Given the description of an element on the screen output the (x, y) to click on. 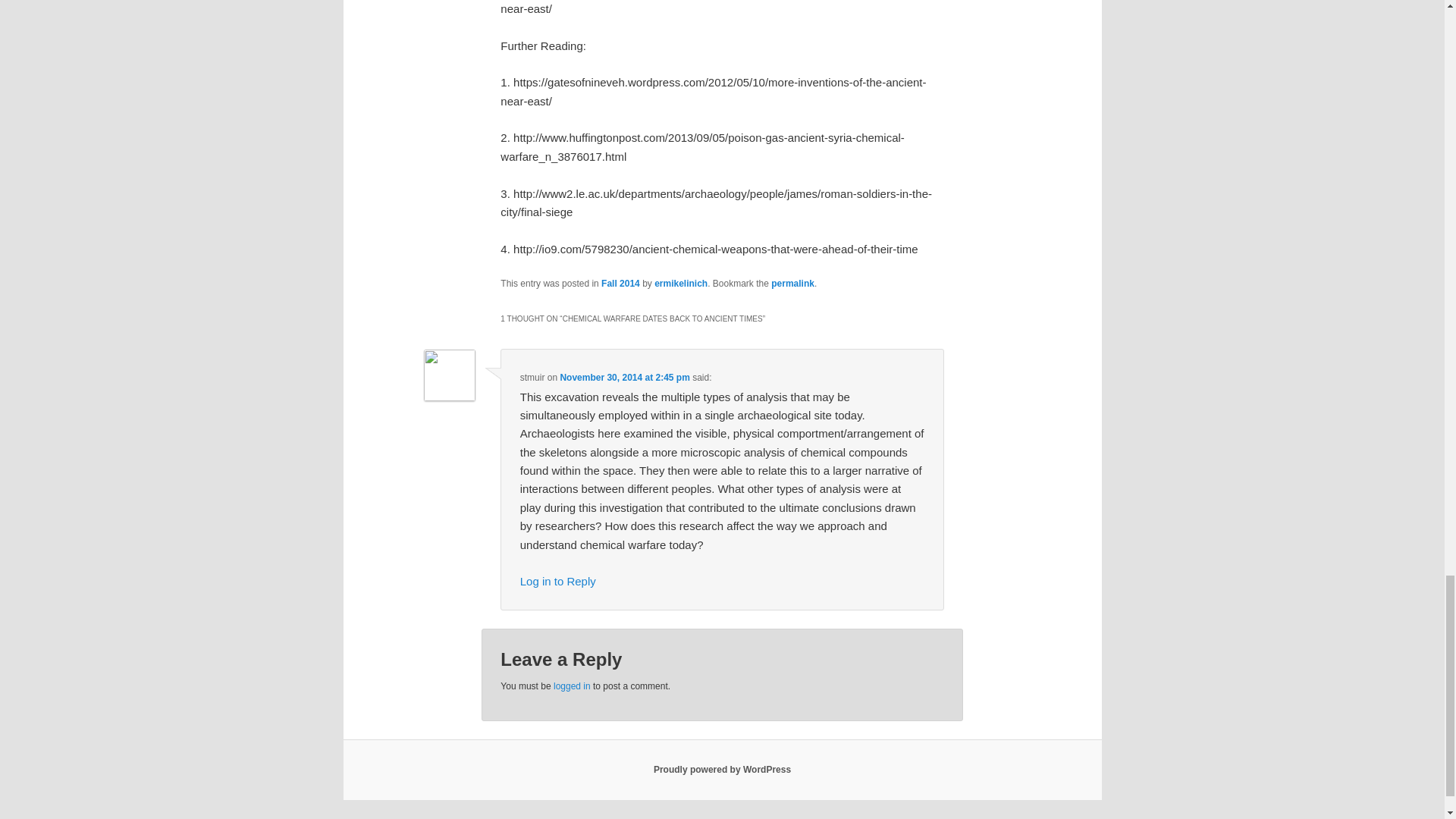
ermikelinich (680, 283)
Proudly powered by WordPress (721, 769)
permalink (792, 283)
November 30, 2014 at 2:45 pm (623, 377)
Fall 2014 (620, 283)
Permalink to Chemical Warfare Dates Back to Ancient Times (792, 283)
logged in (572, 685)
Log in to Reply (557, 581)
Semantic Personal Publishing Platform (721, 769)
